Given the description of an element on the screen output the (x, y) to click on. 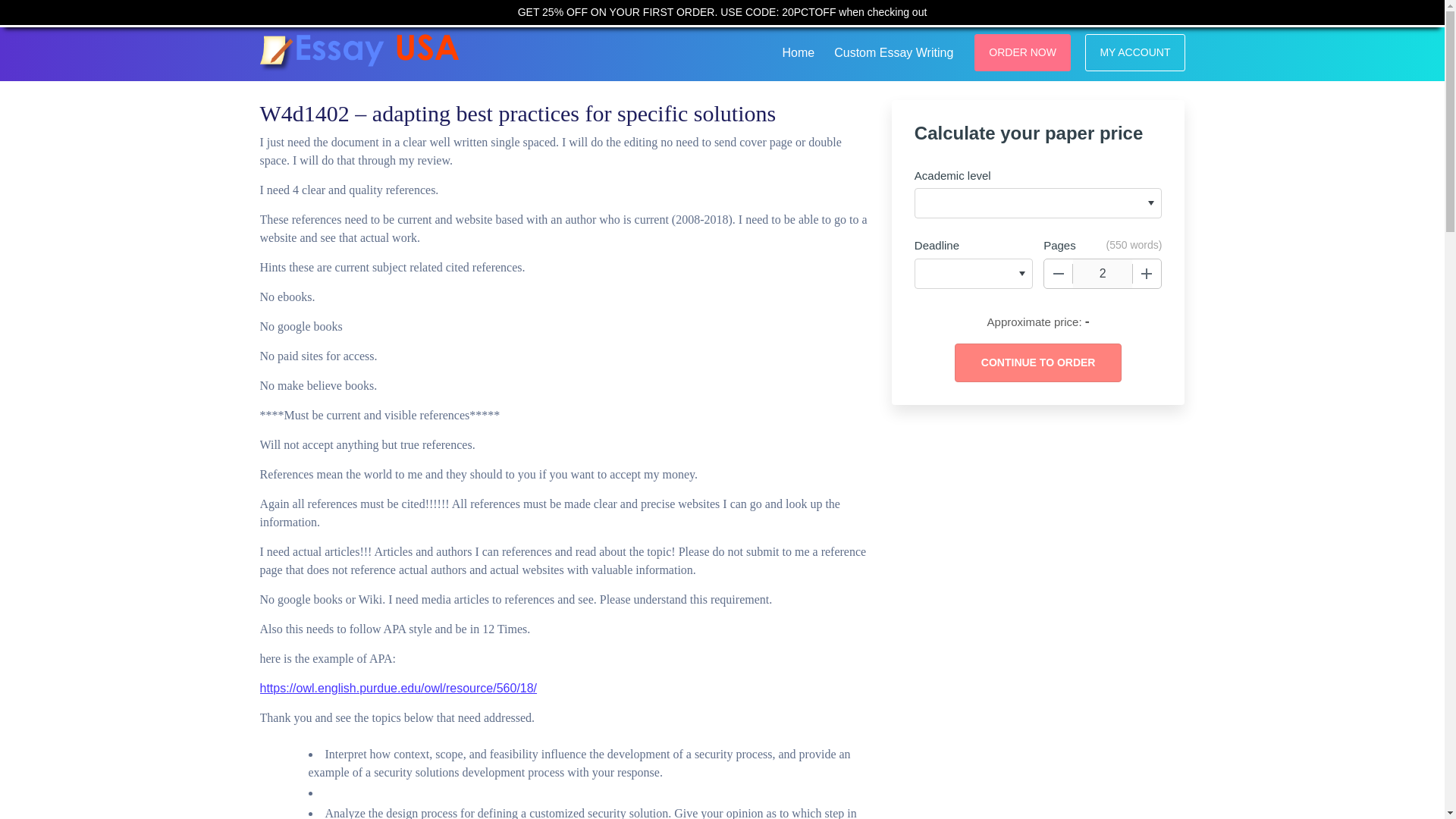
Custom Essay Writing (893, 50)
Continue to order (1038, 362)
Increase (1146, 273)
Home (798, 50)
Custom Essay Writing (893, 50)
Home (798, 50)
Continue to order (1038, 362)
MY ACCOUNT (1134, 52)
2 (1102, 273)
Decrease (1058, 273)
ORDER NOW (1022, 52)
